Given the description of an element on the screen output the (x, y) to click on. 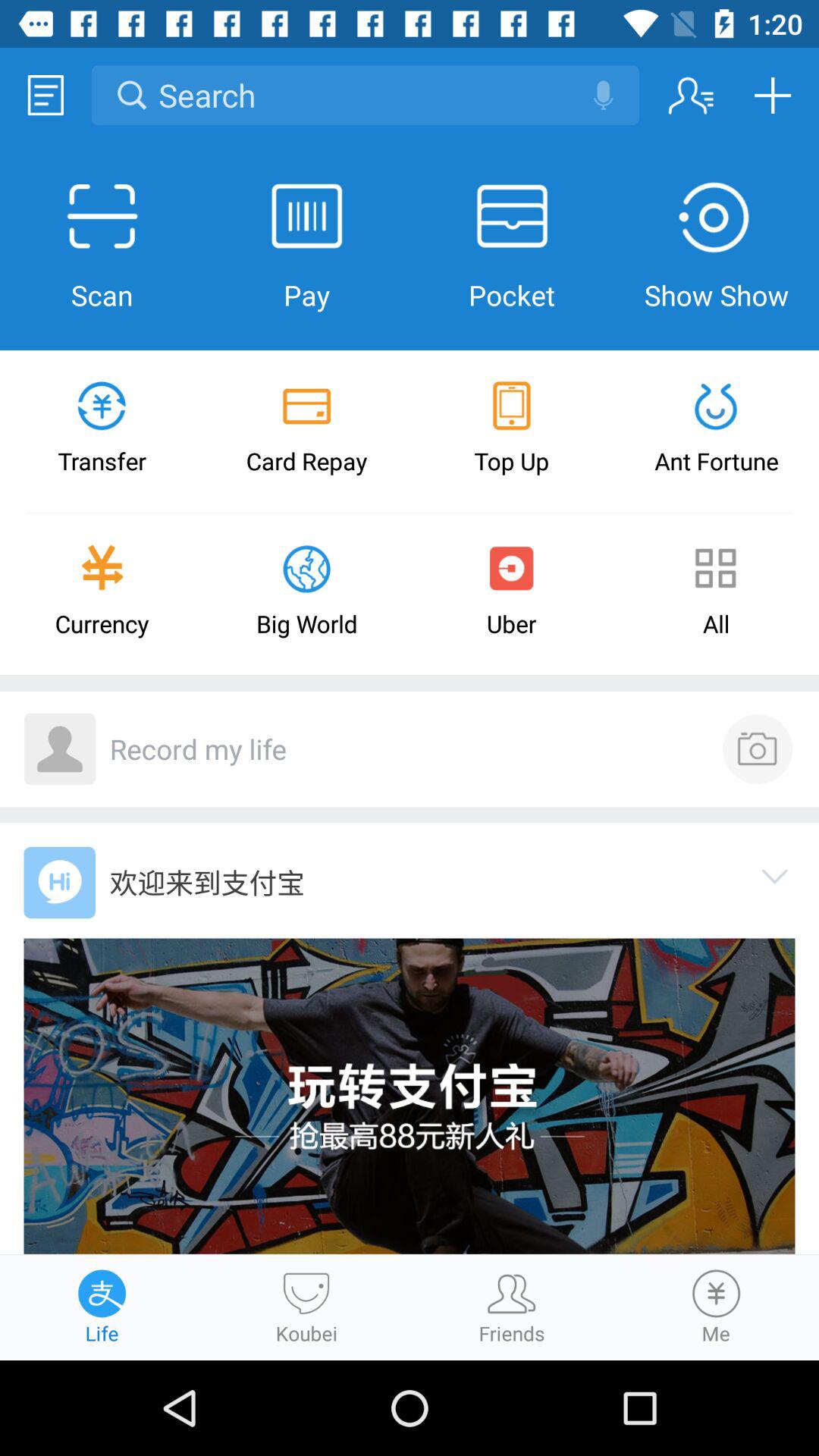
select the button on top left of page (45, 95)
select the icon which is above pocket (511, 216)
select the icon which is above the top up (511, 405)
select pay icon which is after scan on the page (306, 216)
